Given the description of an element on the screen output the (x, y) to click on. 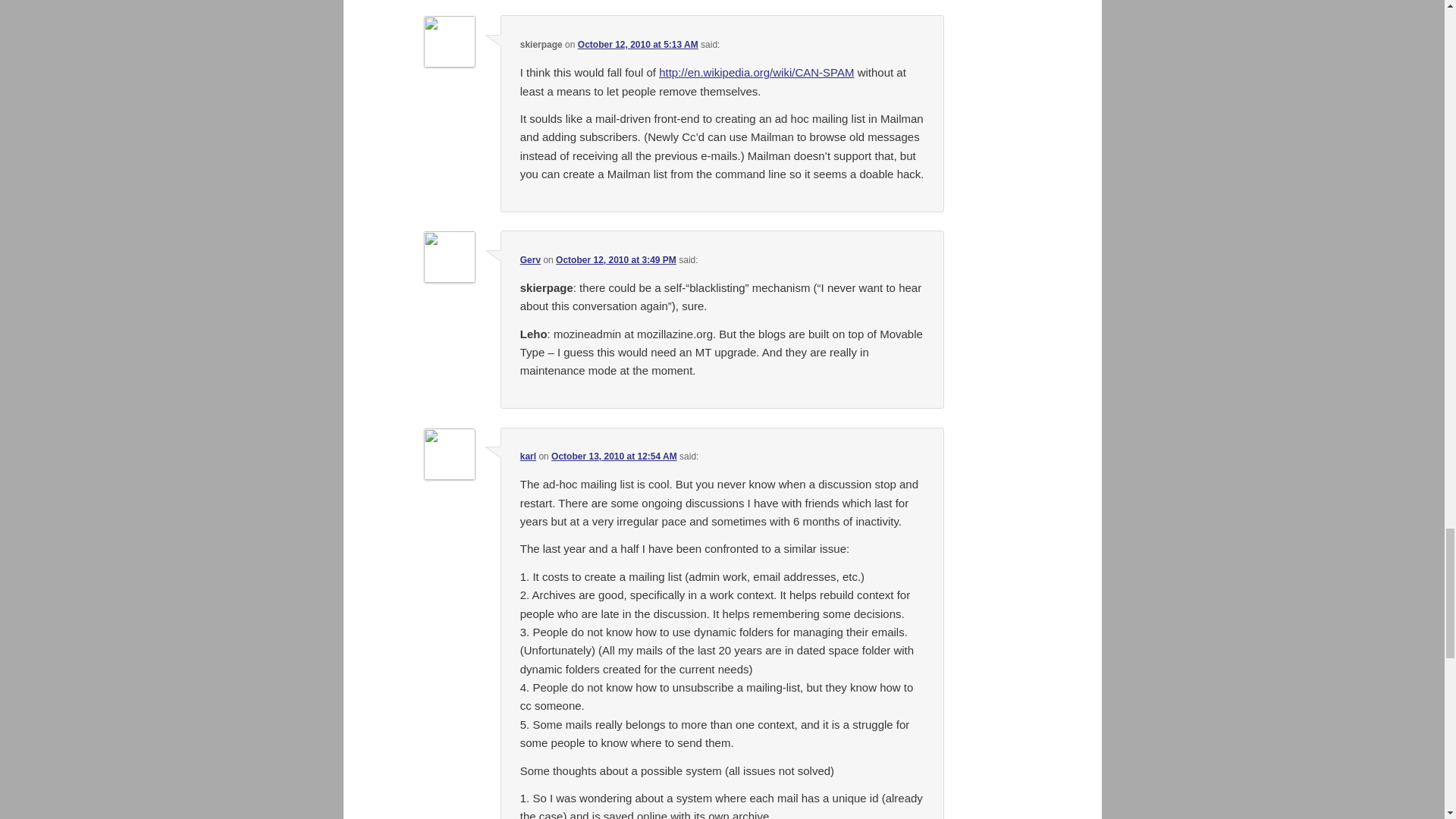
October 12, 2010 at 3:49 PM (616, 259)
October 12, 2010 at 5:13 AM (638, 44)
Gerv (529, 259)
